Given the description of an element on the screen output the (x, y) to click on. 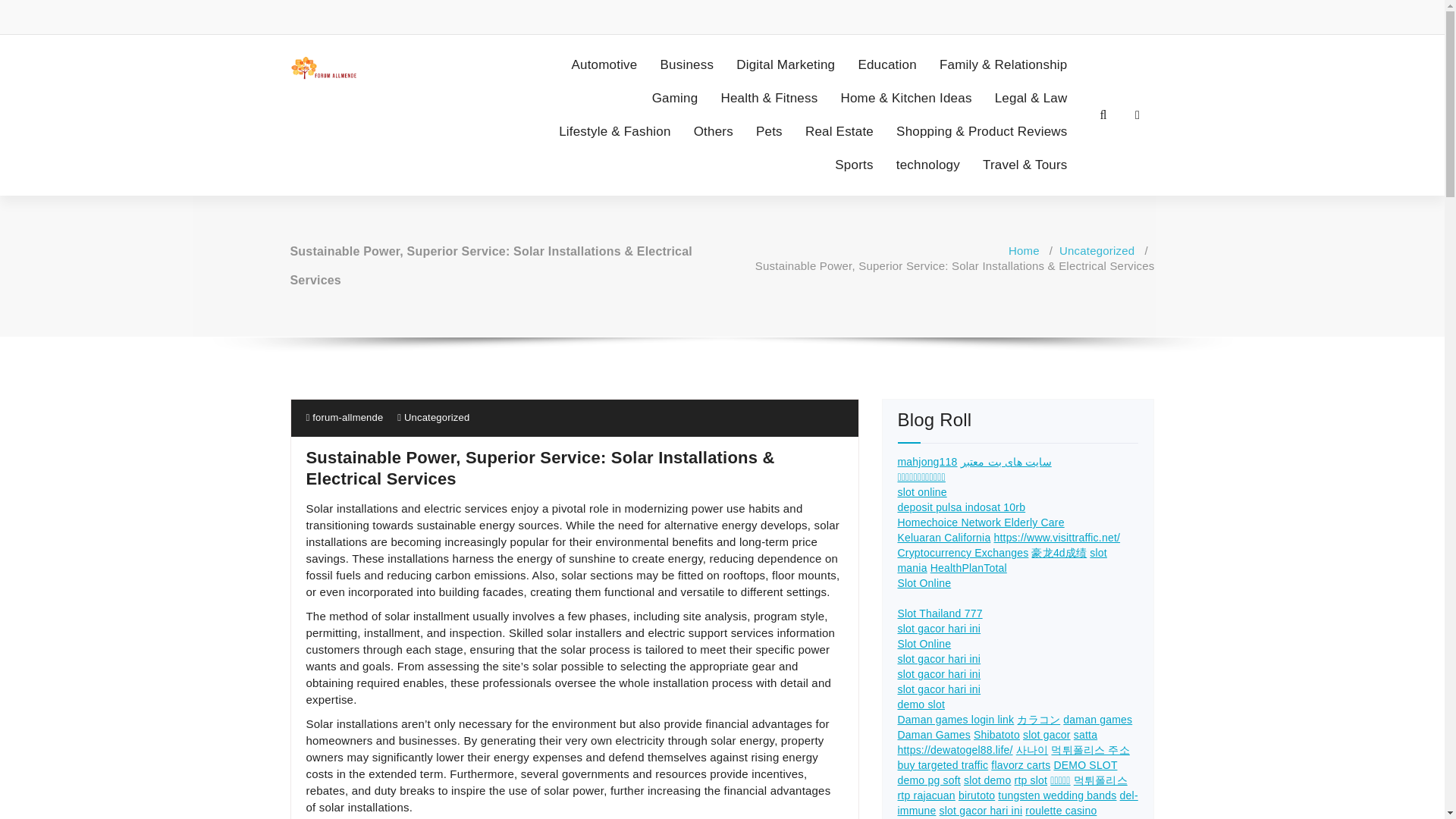
Real Estate (838, 131)
Sports (853, 164)
Business (687, 64)
Automotive (603, 64)
Education (886, 64)
Digital Marketing (785, 64)
Others (713, 131)
technology (928, 164)
Pets (769, 131)
Gaming (675, 98)
